Given the description of an element on the screen output the (x, y) to click on. 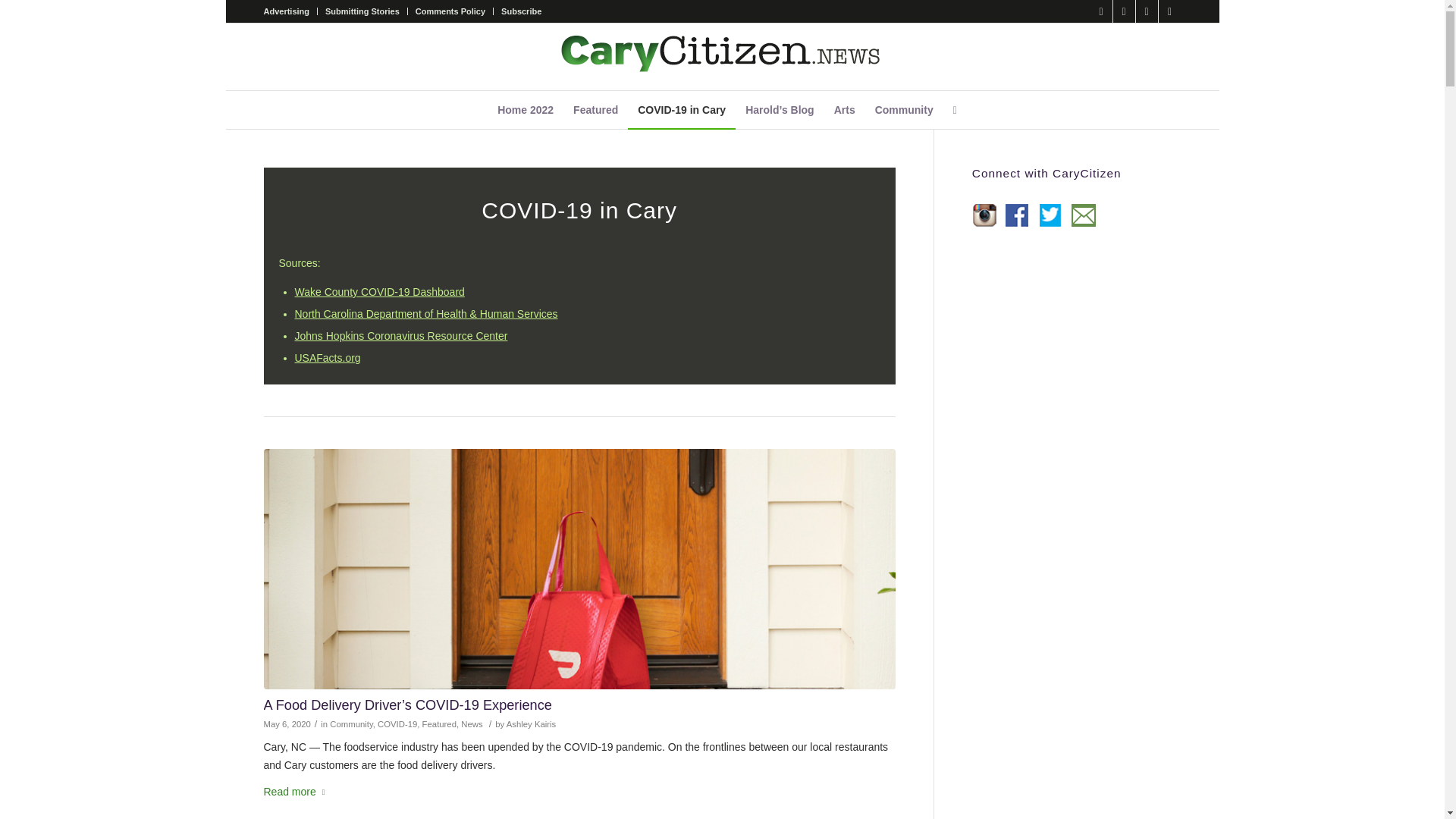
Arts (844, 109)
Featured (439, 723)
COVID-19 in Cary (681, 109)
Community (351, 723)
Submitting Stories (361, 11)
Home 2022 (525, 109)
Posts by Ashley Kairis (531, 723)
Comments Policy (449, 11)
Featured (595, 109)
News (471, 723)
USAFacts.org (326, 357)
Subscribe (520, 11)
Wake County COVID-19 Dashboard (379, 291)
Ashley Kairis (531, 723)
